Given the description of an element on the screen output the (x, y) to click on. 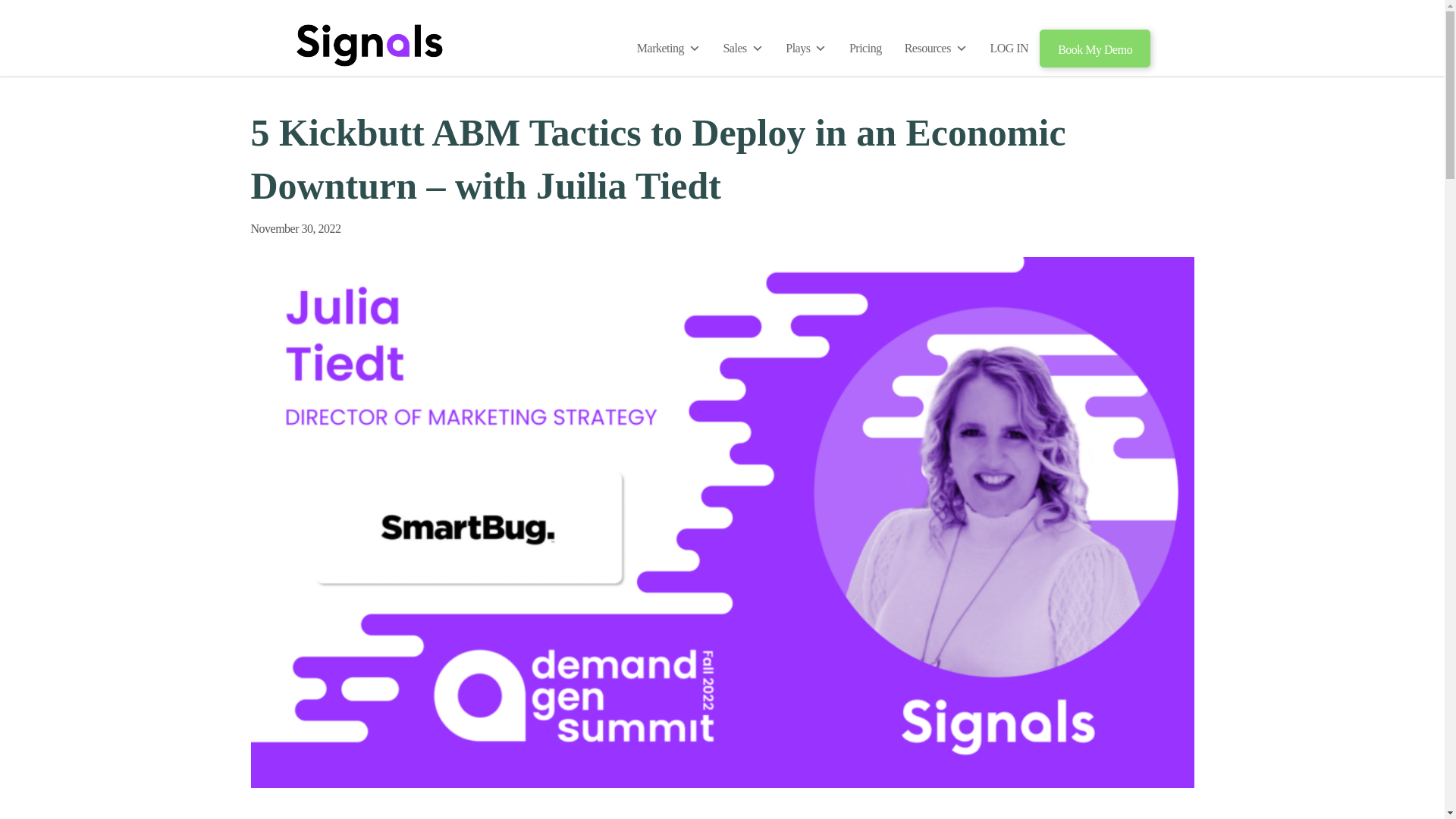
LOG IN (1008, 48)
Marketing (668, 48)
Plays (806, 48)
Resources (935, 48)
Pricing (865, 48)
Sales (742, 48)
Book My Demo (1094, 48)
